Given the description of an element on the screen output the (x, y) to click on. 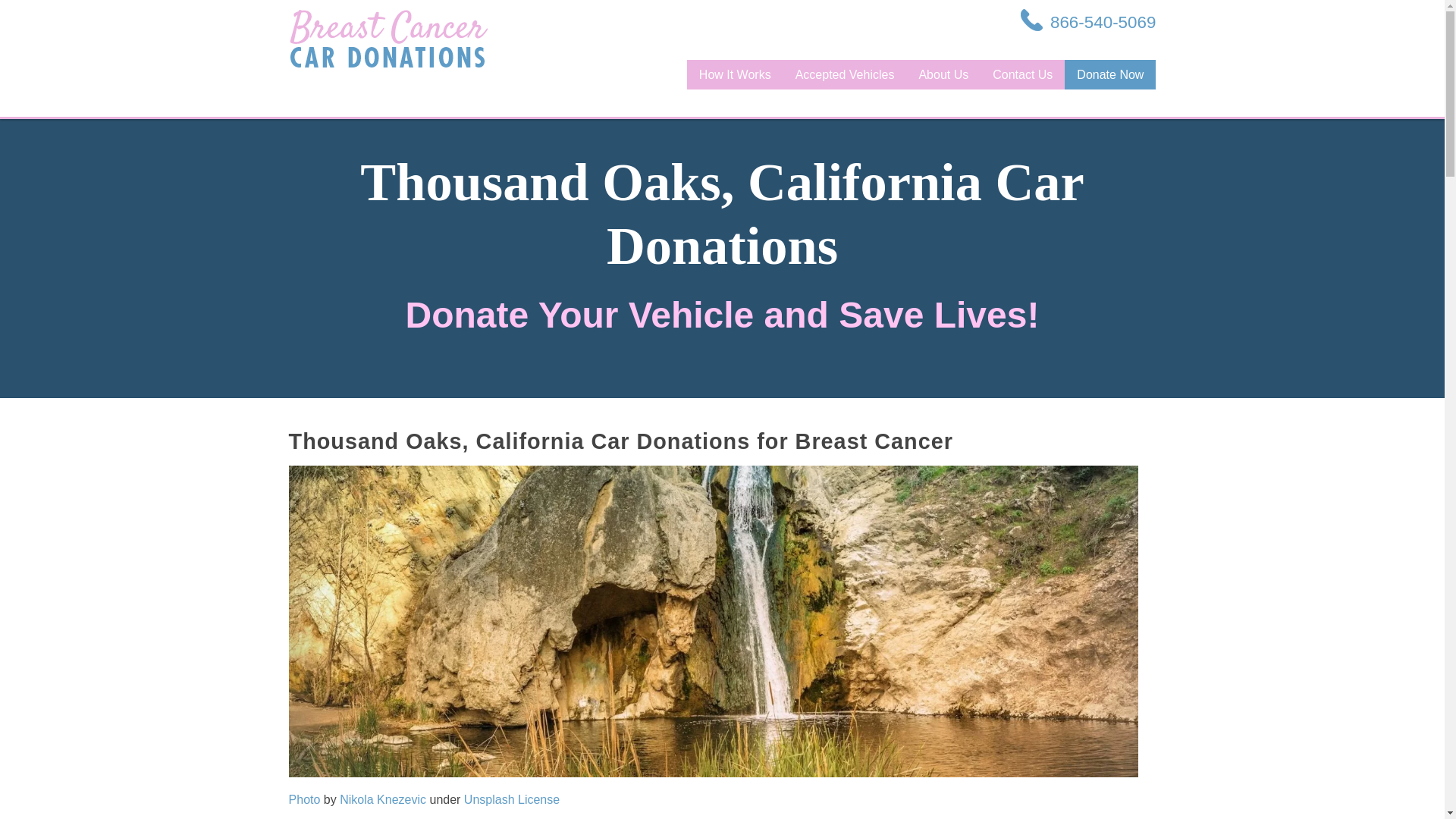
Contact Us (1021, 74)
Unsplash License (511, 799)
Photo (304, 799)
Accepted Vehicles (845, 74)
About Us (942, 74)
How It Works (735, 74)
Donate Now (1110, 74)
866-540-5069 (1088, 22)
Breast Cancer Car Donations (388, 38)
Nikola Knezevic (382, 799)
